Given the description of an element on the screen output the (x, y) to click on. 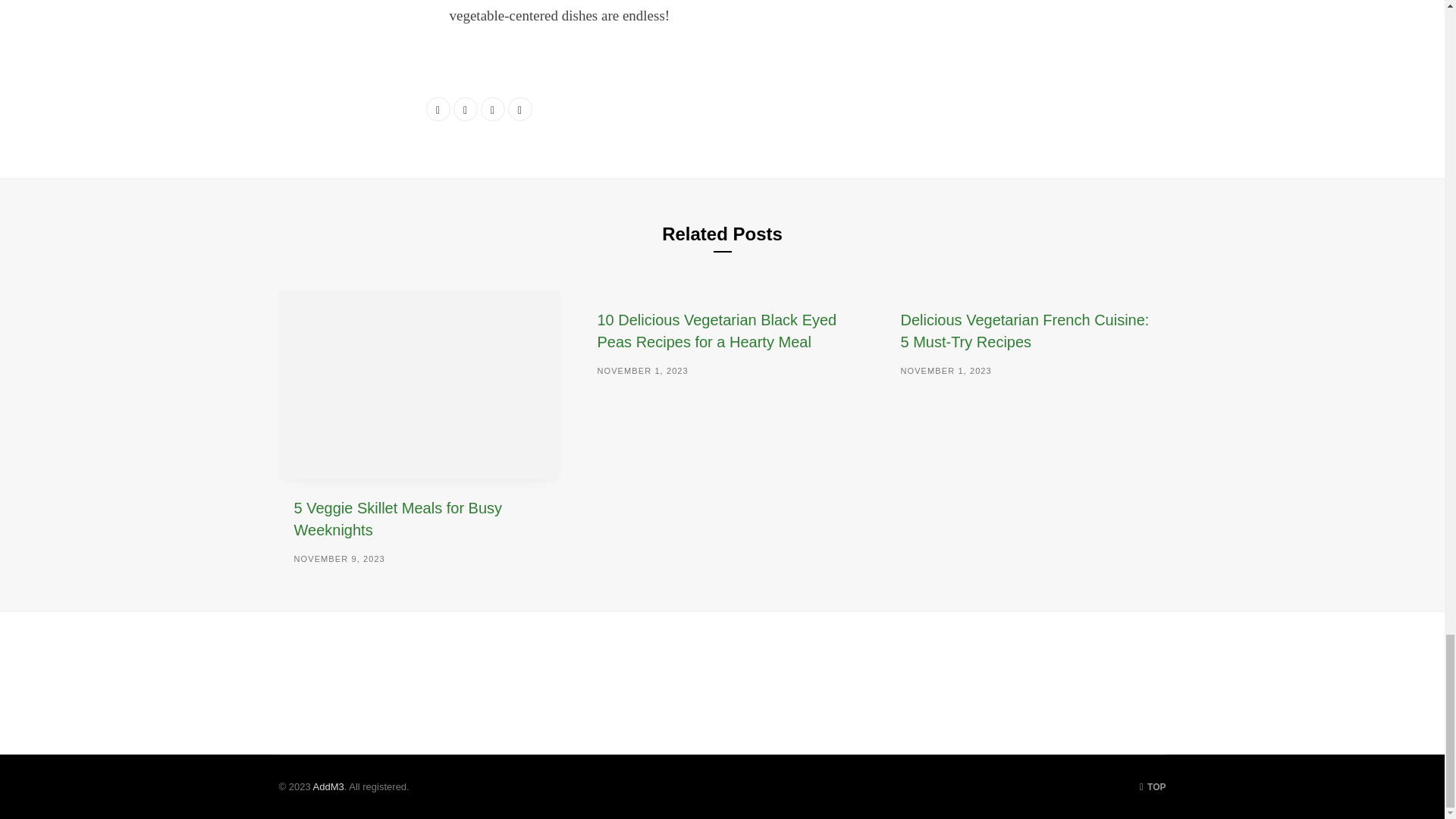
TOP (1153, 786)
5 Veggie Skillet Meals for Busy Weeknights (419, 383)
Pinterest (520, 109)
LinkedIn (492, 109)
AddM3 (328, 786)
5 Veggie Skillet Meals for Busy Weeknights (398, 518)
Share on Facebook (437, 109)
Share on Twitter (464, 109)
Delicious Vegetarian French Cuisine: 5 Must-Try Recipes (1023, 331)
